Given the description of an element on the screen output the (x, y) to click on. 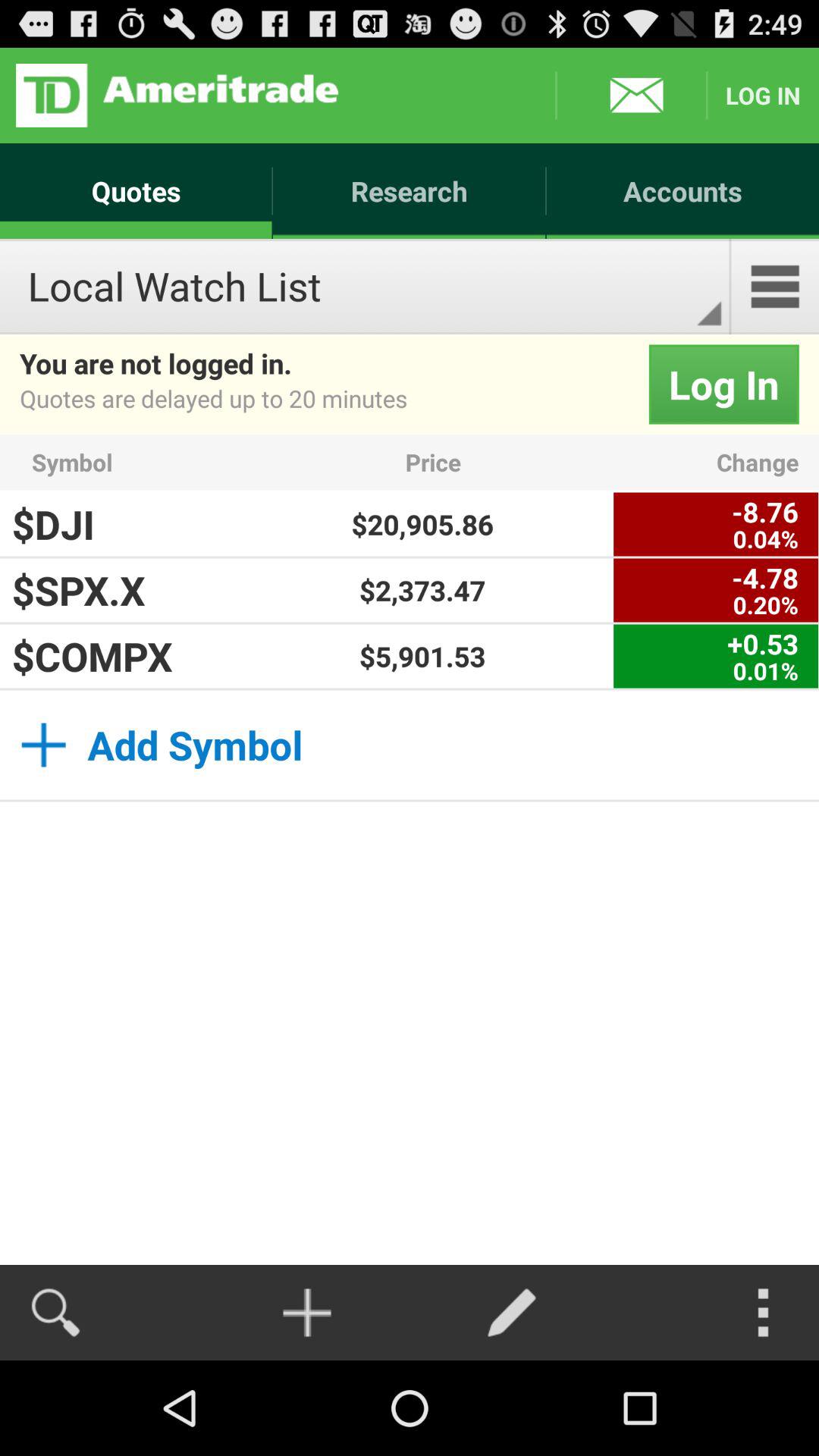
turn off the item next to local watch list item (775, 286)
